Given the description of an element on the screen output the (x, y) to click on. 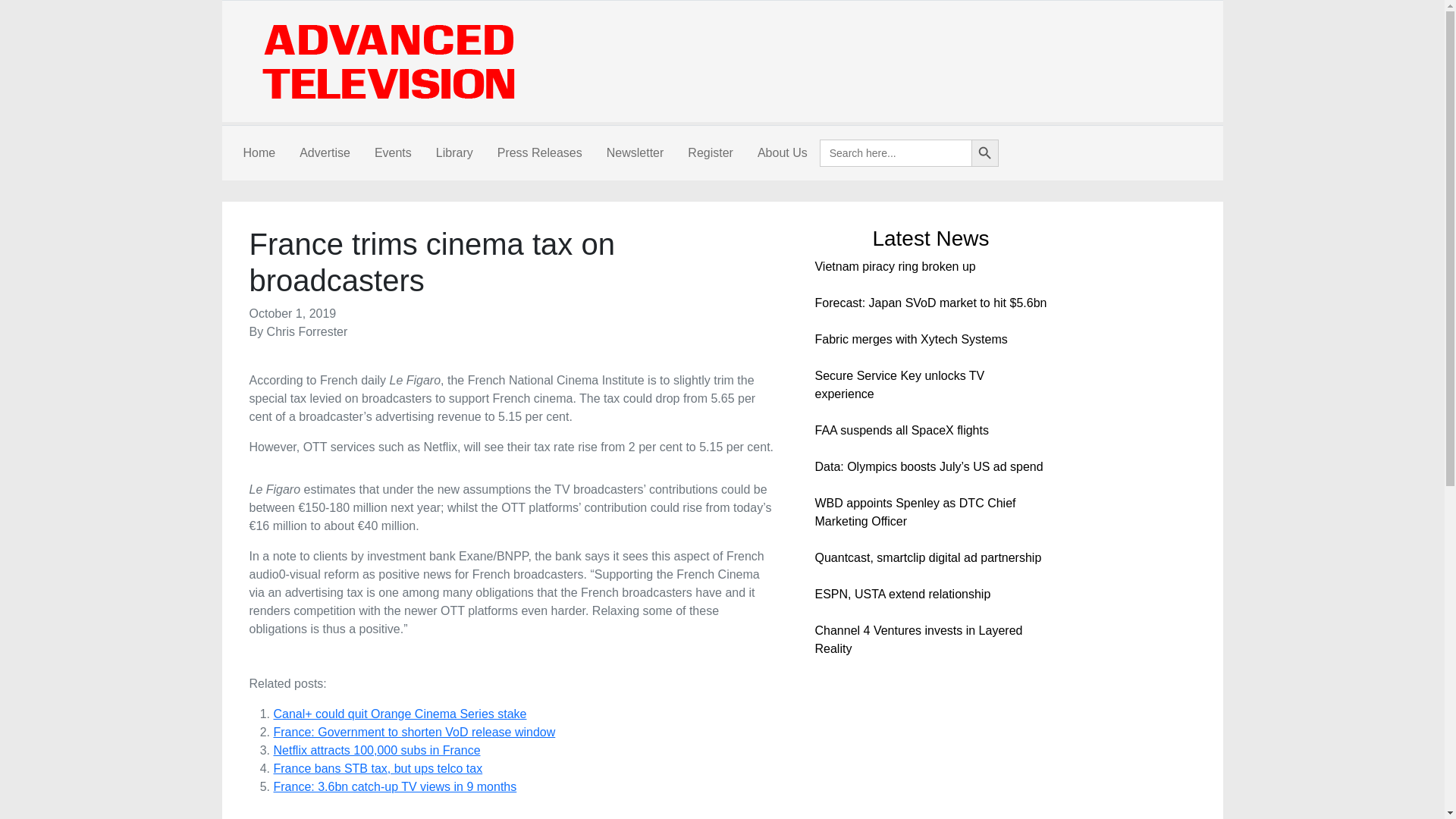
Search Button (984, 153)
Netflix attracts 100,000 subs in France (376, 749)
Press Releases (539, 153)
Advertise (324, 153)
Home (258, 153)
About Us (782, 153)
France: Government to shorten VoD release window (413, 731)
France bans STB tax, but ups telco tax (377, 768)
Quantcast, smartclip digital ad partnership (927, 557)
France: Government to shorten VoD release window (413, 731)
